Given the description of an element on the screen output the (x, y) to click on. 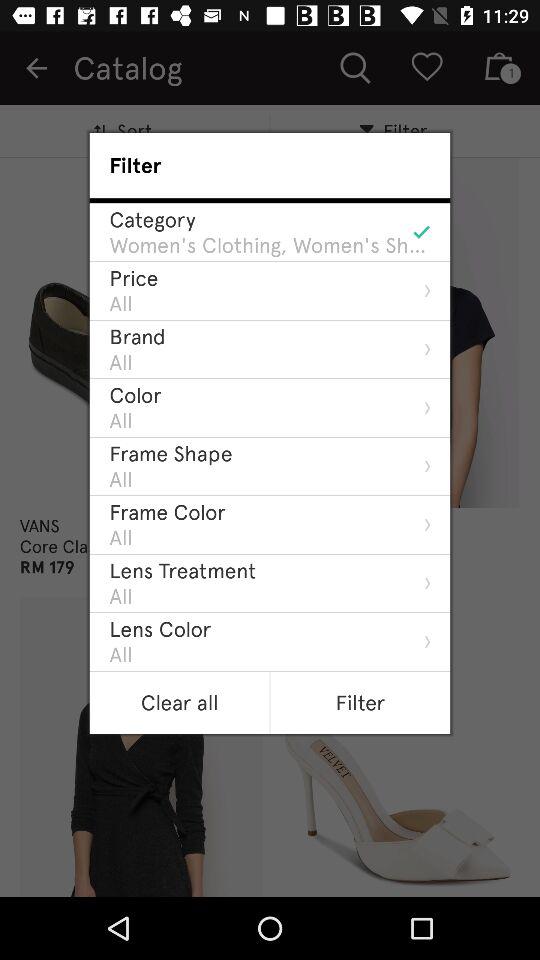
click the item above price icon (269, 245)
